Given the description of an element on the screen output the (x, y) to click on. 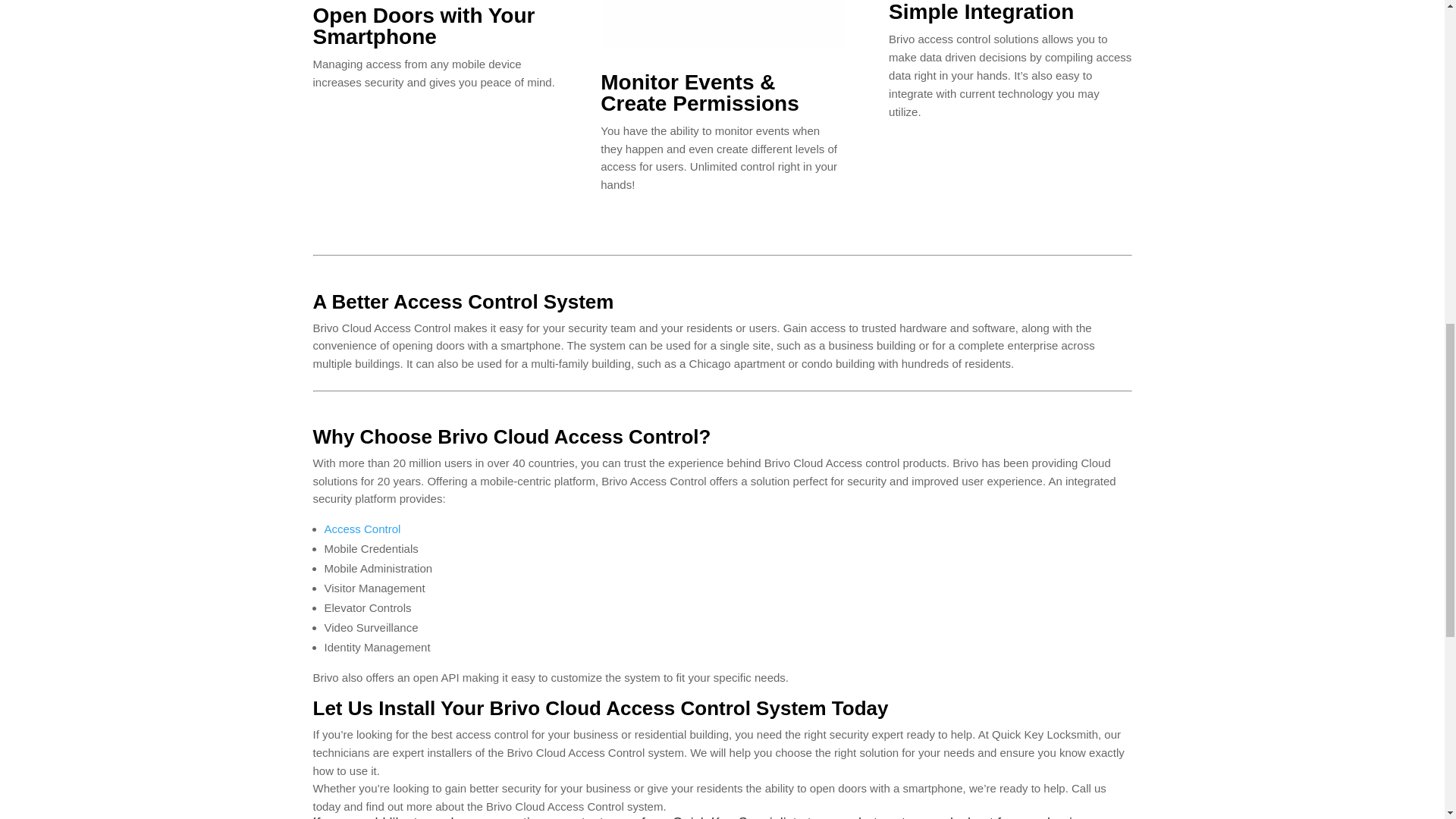
BundleV2-scaled (721, 24)
